Given the description of an element on the screen output the (x, y) to click on. 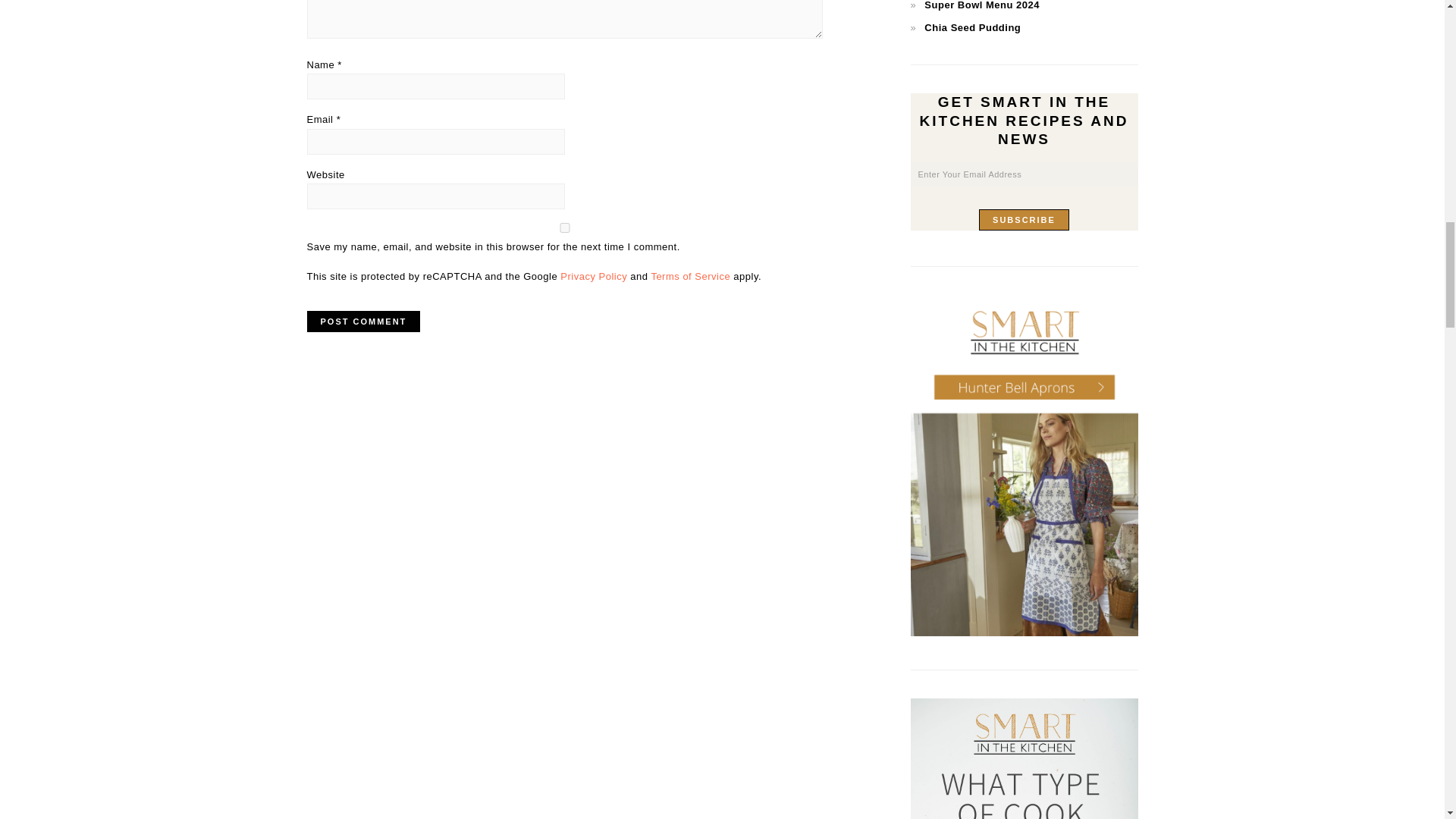
Post Comment (362, 321)
Super Bowl Menu 2024 (981, 5)
Terms of Service (690, 276)
Post Comment (362, 321)
Privacy Policy (593, 276)
yes (563, 227)
Enter Your Email Address (1023, 174)
Subscribe (1023, 219)
